Given the description of an element on the screen output the (x, y) to click on. 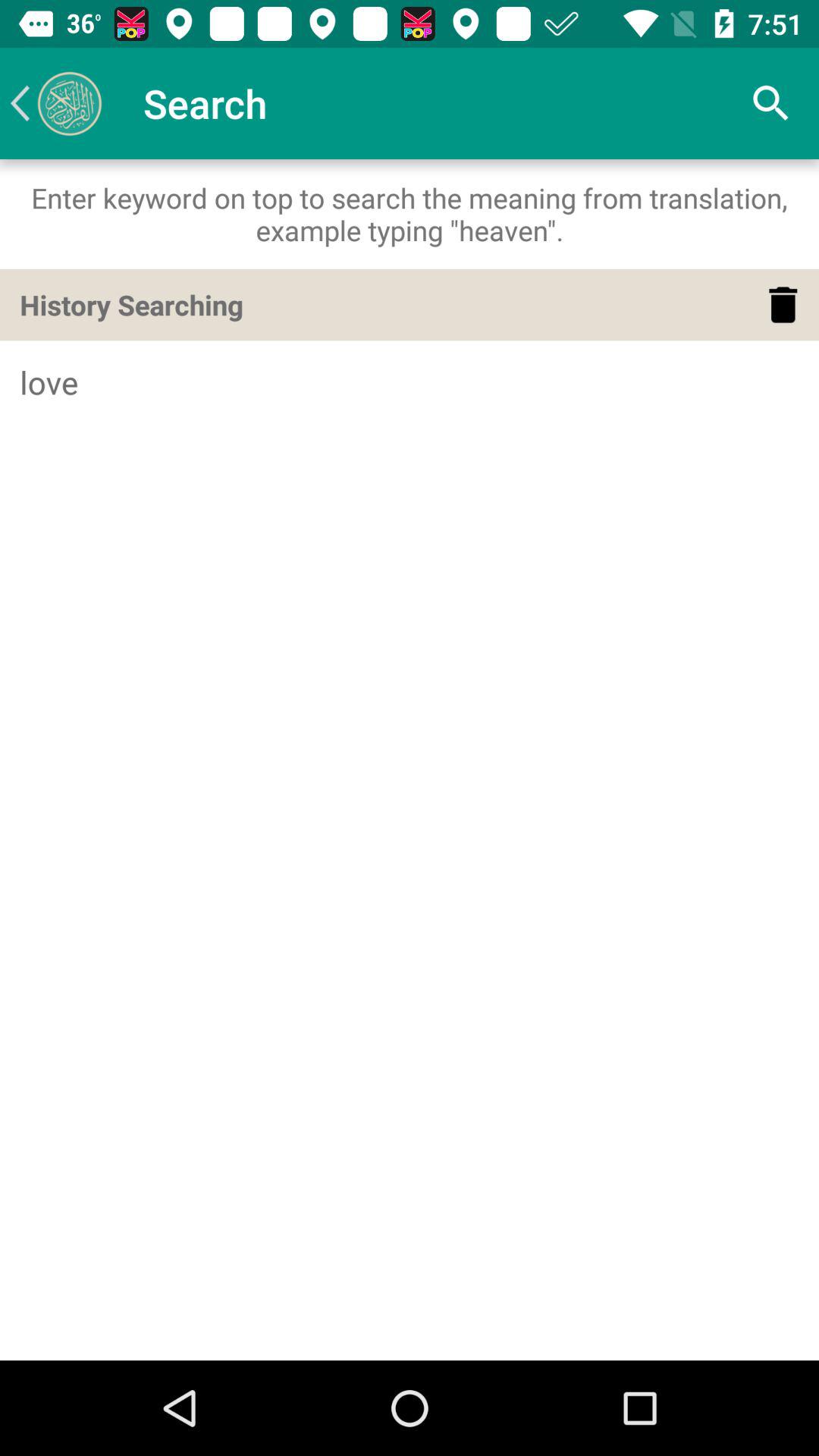
jump to love item (409, 381)
